Given the description of an element on the screen output the (x, y) to click on. 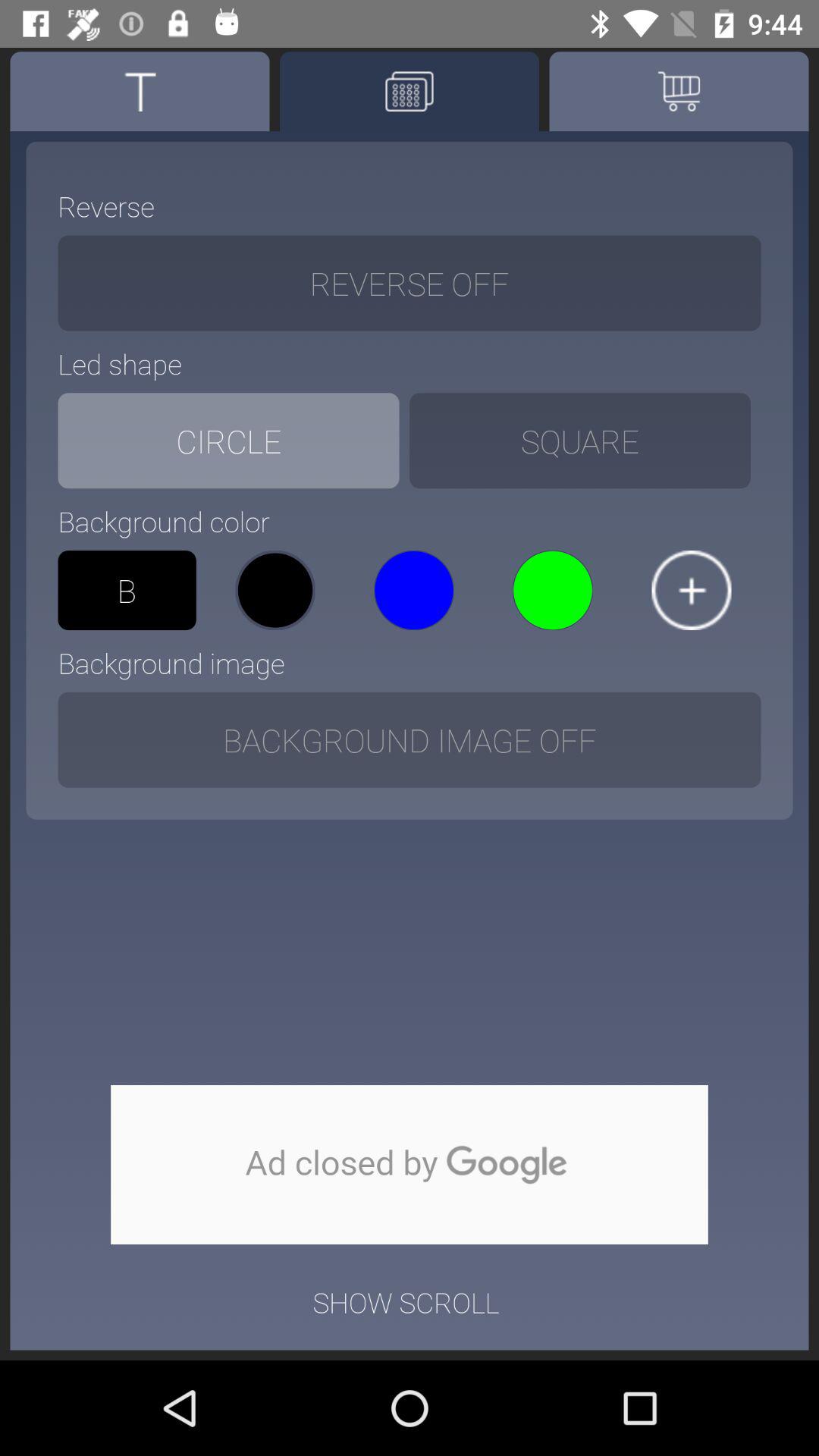
choose the shopping option (678, 91)
